Given the description of an element on the screen output the (x, y) to click on. 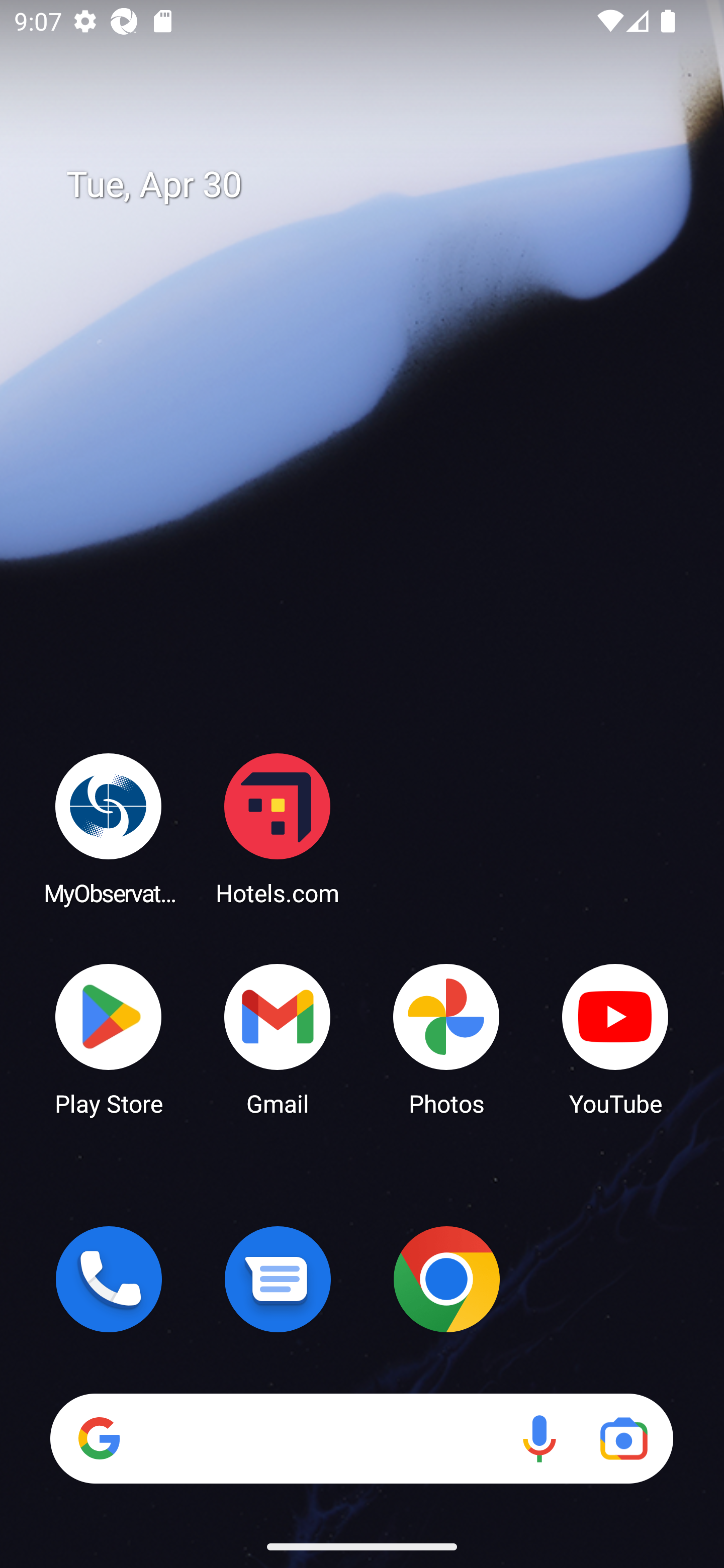
Tue, Apr 30 (375, 184)
MyObservatory (108, 828)
Hotels.com (277, 828)
Play Store (108, 1038)
Gmail (277, 1038)
Photos (445, 1038)
YouTube (615, 1038)
Phone (108, 1279)
Messages (277, 1279)
Chrome (446, 1279)
Search Voice search Google Lens (361, 1438)
Voice search (539, 1438)
Google Lens (623, 1438)
